Given the description of an element on the screen output the (x, y) to click on. 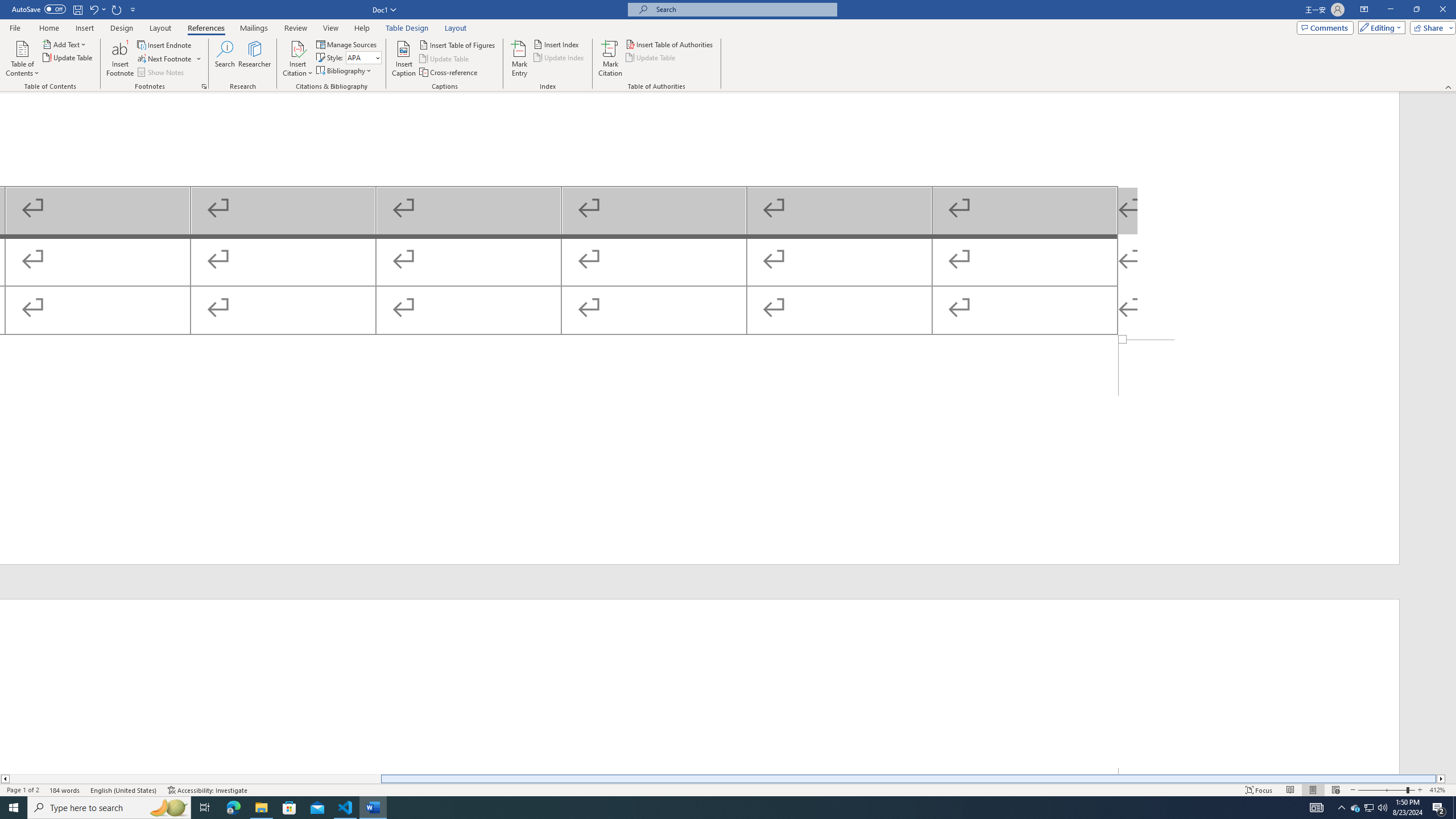
Insert Citation (297, 58)
Accessibility Checker Accessibility: Investigate (207, 790)
Researcher (254, 58)
Microsoft search (742, 9)
Style (363, 56)
Insert Index... (556, 44)
Undo Outline Move Up (92, 9)
Page 1 content (699, 215)
Next Footnote (169, 58)
Column right (1441, 778)
Header -Section 1- (699, 685)
